Given the description of an element on the screen output the (x, y) to click on. 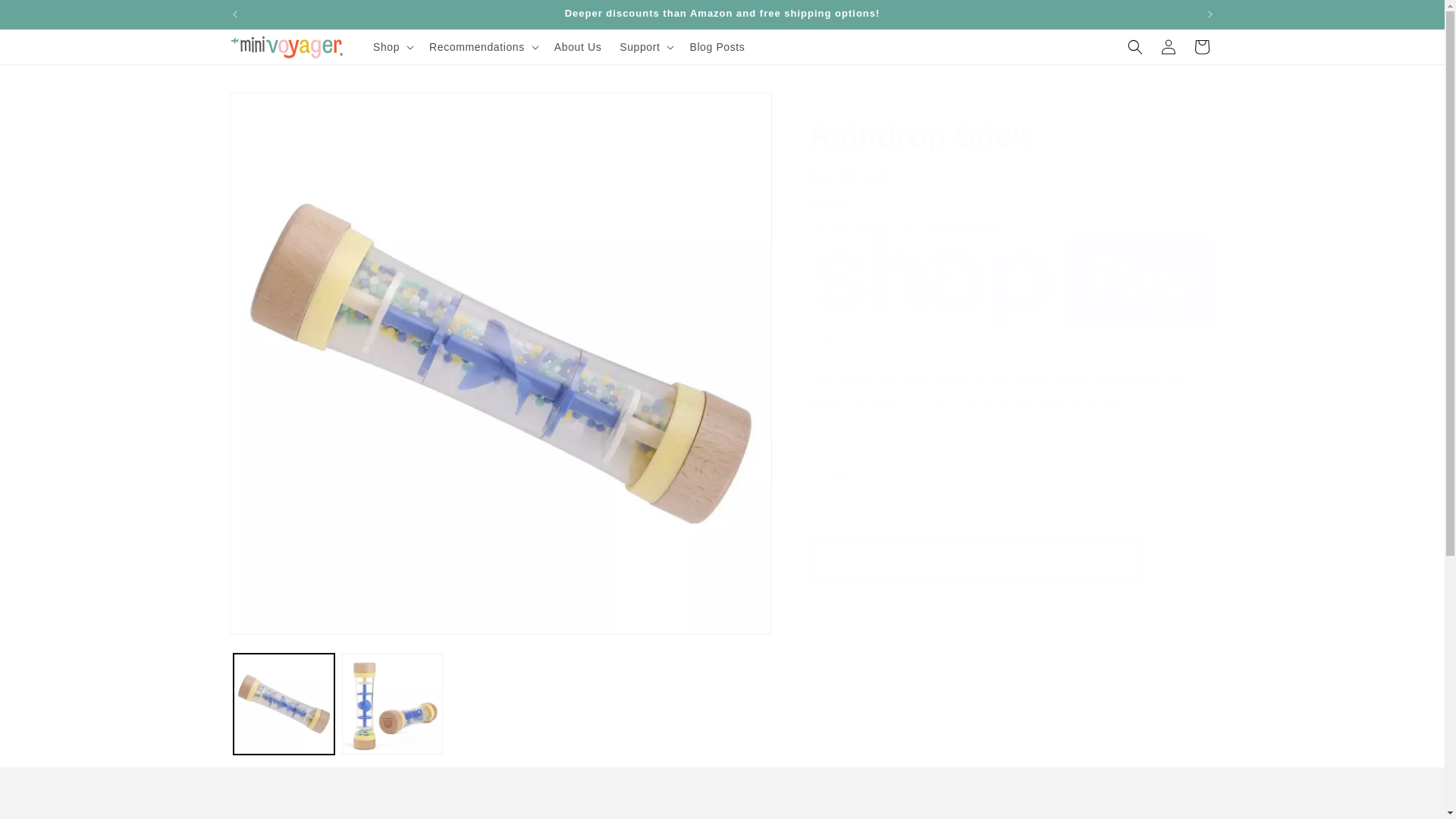
Skip to content (48, 20)
1 (863, 502)
